Given the description of an element on the screen output the (x, y) to click on. 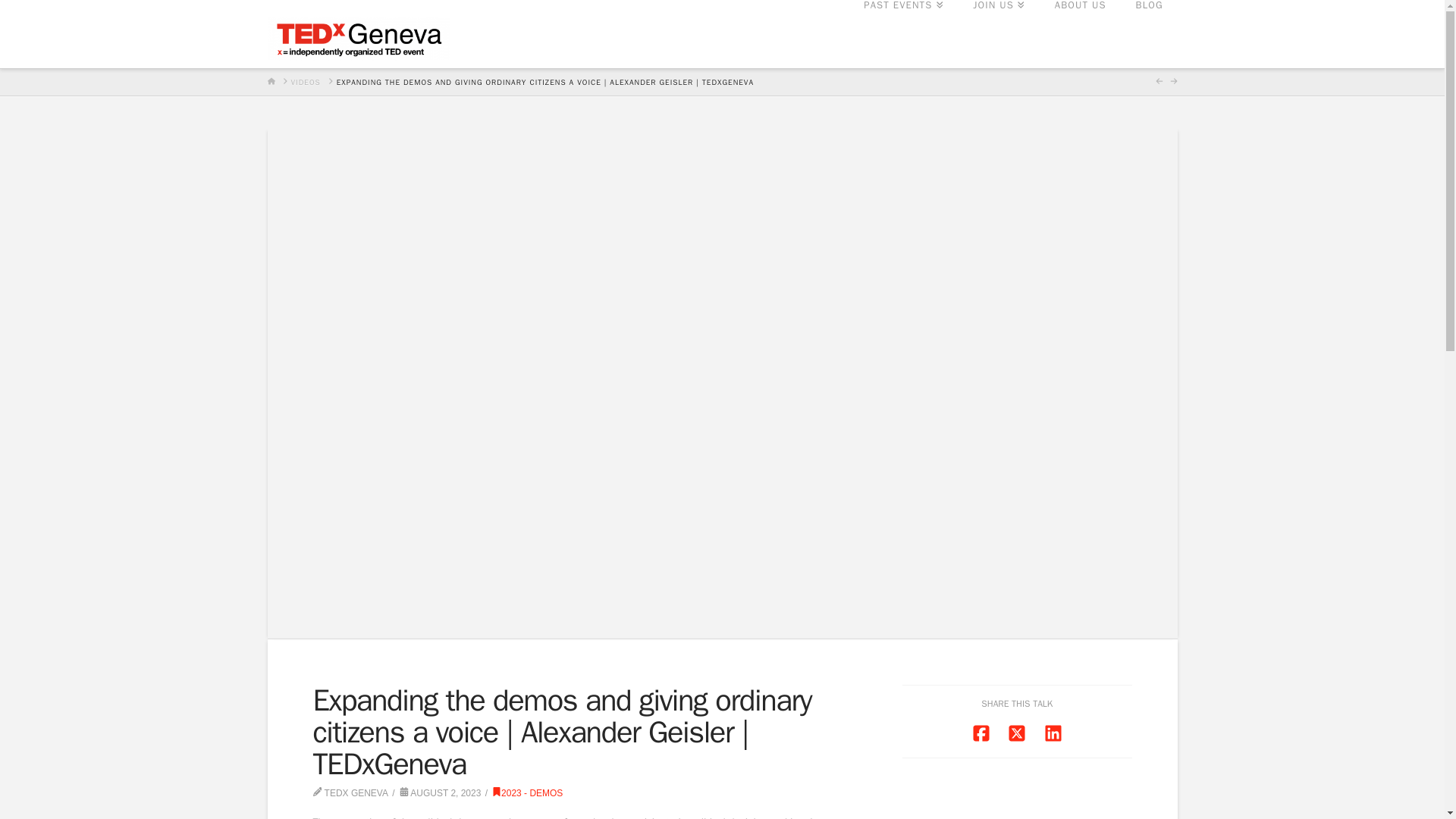
You Are Here (545, 81)
ABOUT US (1080, 33)
PAST EVENTS (903, 33)
JOIN US (998, 33)
